Given the description of an element on the screen output the (x, y) to click on. 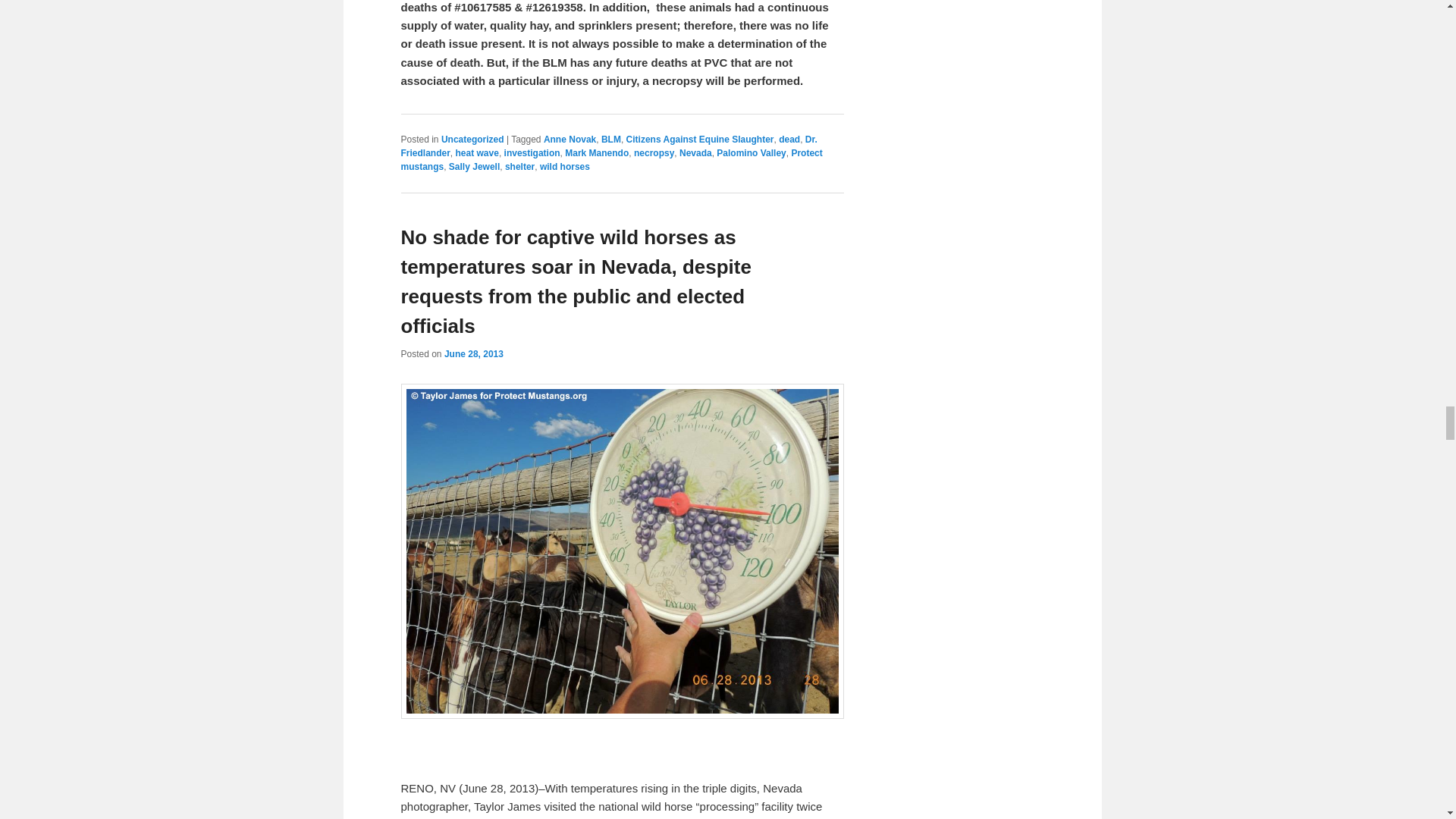
10:54 pm (473, 353)
